Given the description of an element on the screen output the (x, y) to click on. 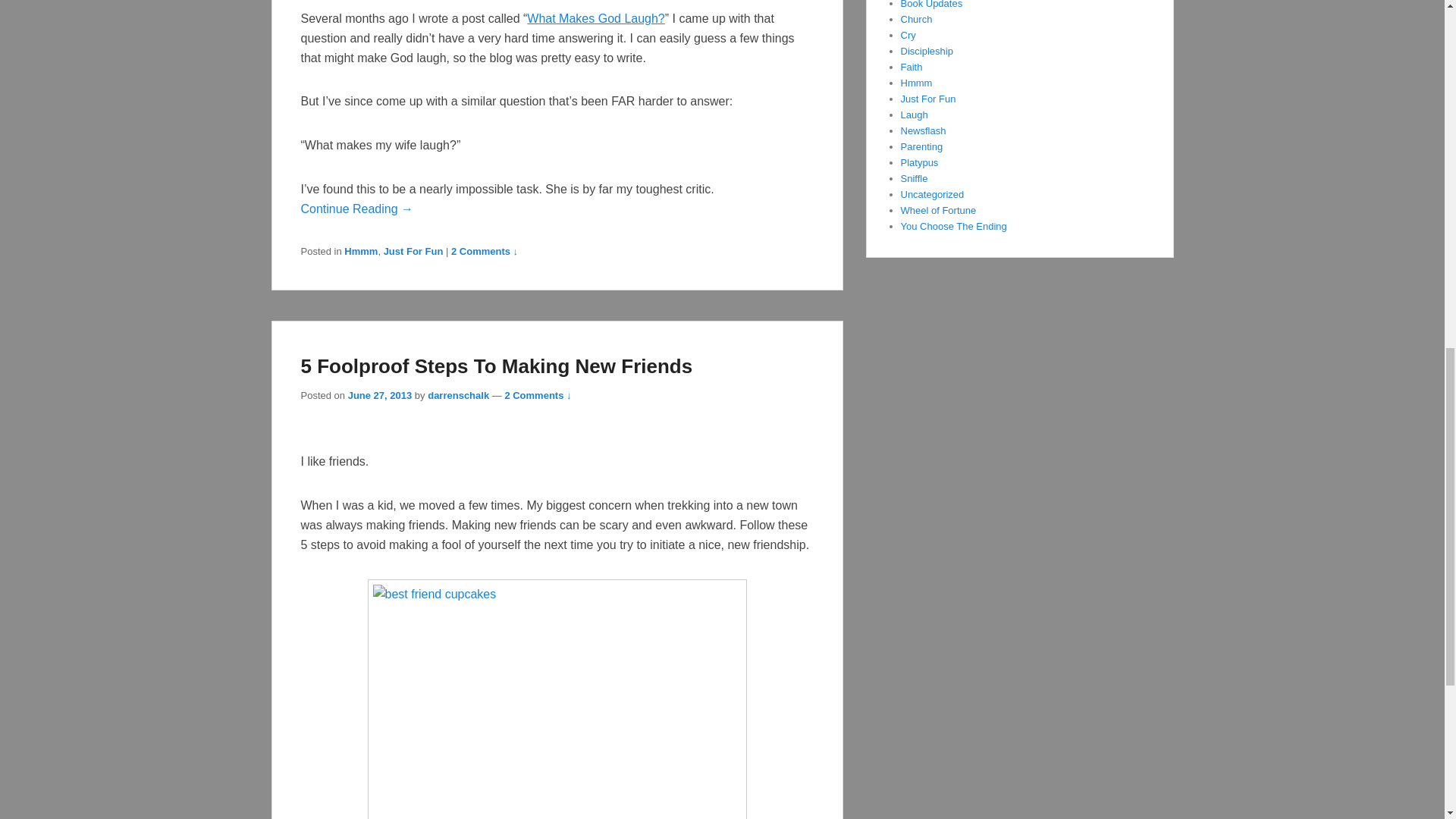
5 Foolproof Steps To Making New Friends (496, 365)
darrenschalk (458, 395)
What Makes God Laugh? (595, 18)
Just For Fun (414, 251)
Cry (908, 34)
Hmmm (917, 82)
Discipleship (927, 50)
Hmmm (360, 251)
Book Updates (931, 4)
8:00 am (379, 395)
Permalink to 5 Foolproof Steps To Making New Friends (496, 365)
Faith (912, 66)
June 27, 2013 (379, 395)
Church (917, 19)
